Given the description of an element on the screen output the (x, y) to click on. 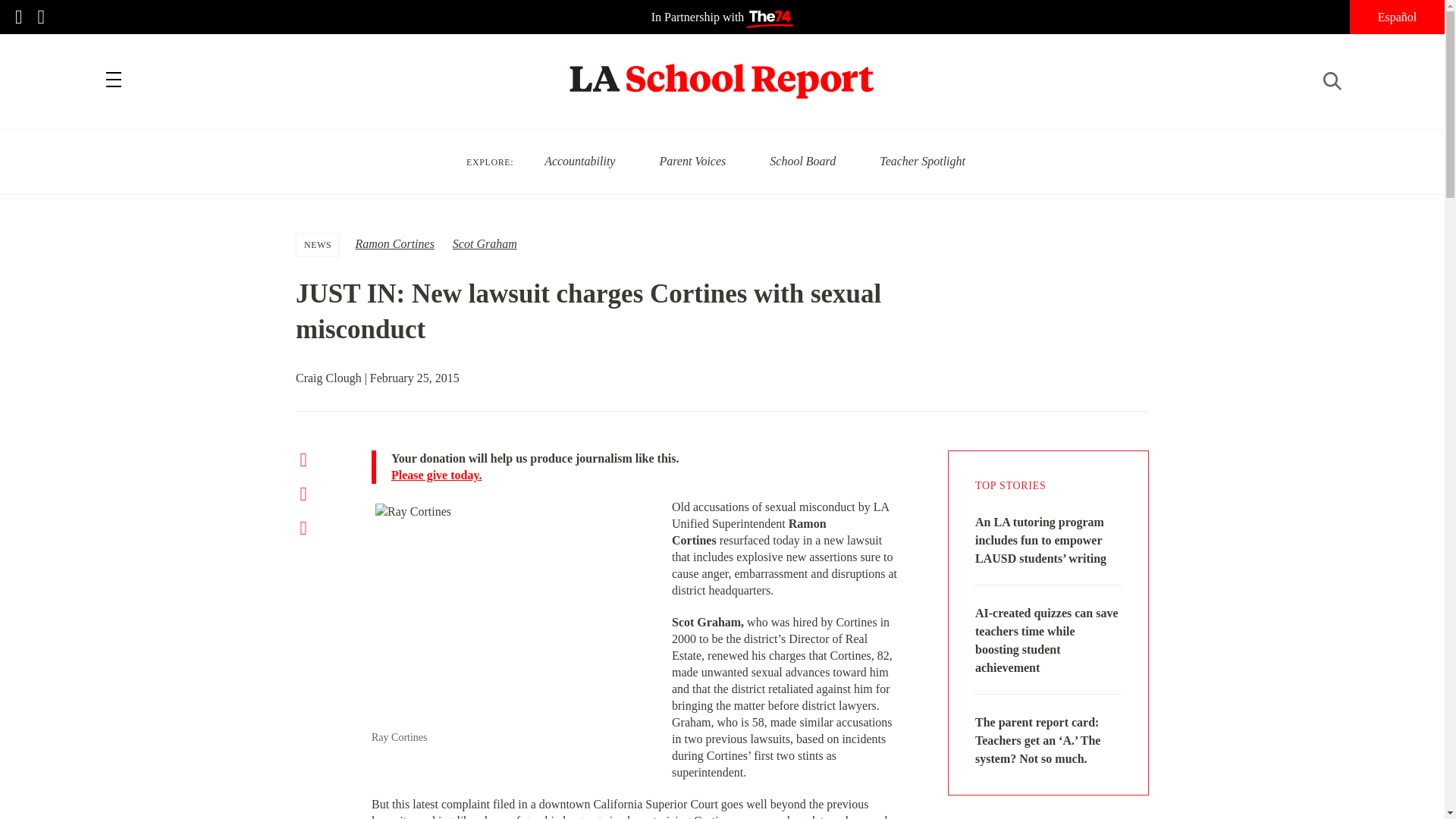
Parent Voices (692, 160)
Accountability (579, 160)
Scot Graham (484, 243)
NEWS (317, 244)
School Board (802, 160)
In Partnership with 74 (721, 16)
LA School Report (721, 71)
Ramon Cortines (394, 243)
